Given the description of an element on the screen output the (x, y) to click on. 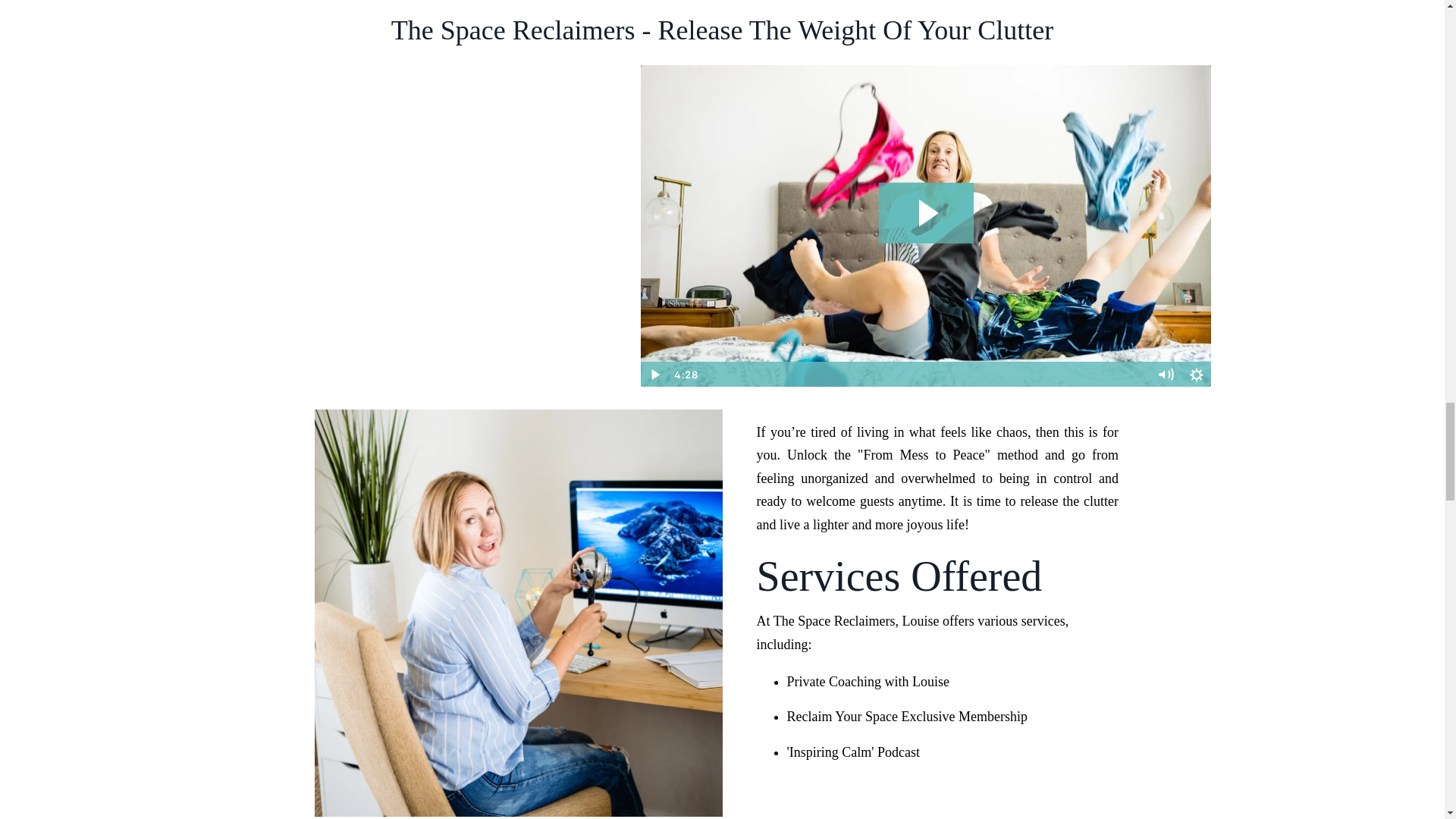
Show settings menu (1195, 374)
